Given the description of an element on the screen output the (x, y) to click on. 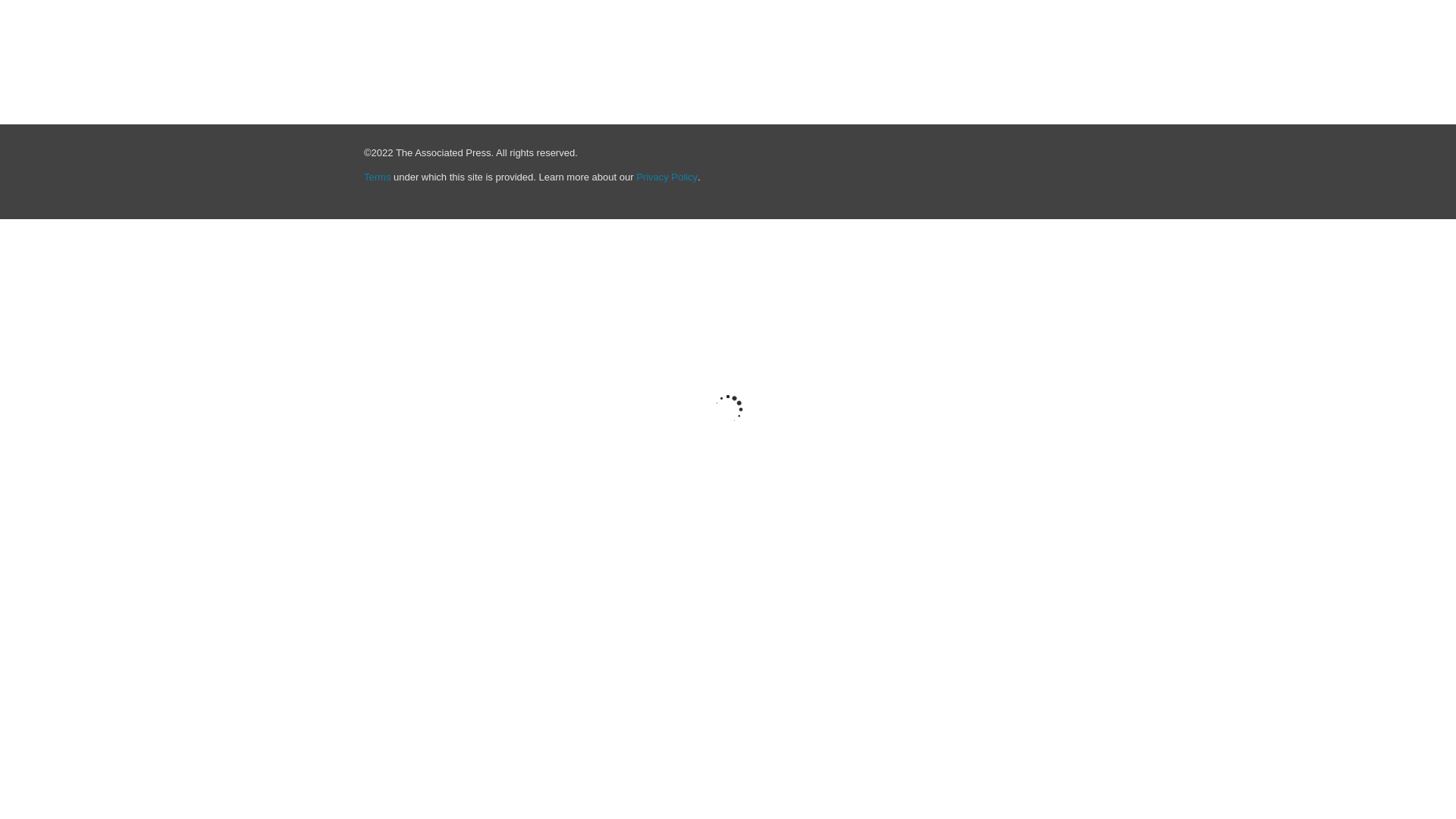
News (810, 41)
Entertainment (938, 41)
Politics (865, 41)
Privacy Policy (666, 176)
Home (382, 41)
Terms (377, 176)
Technology (1074, 41)
Skip to main content (55, 8)
Sports (1010, 41)
